Given the description of an element on the screen output the (x, y) to click on. 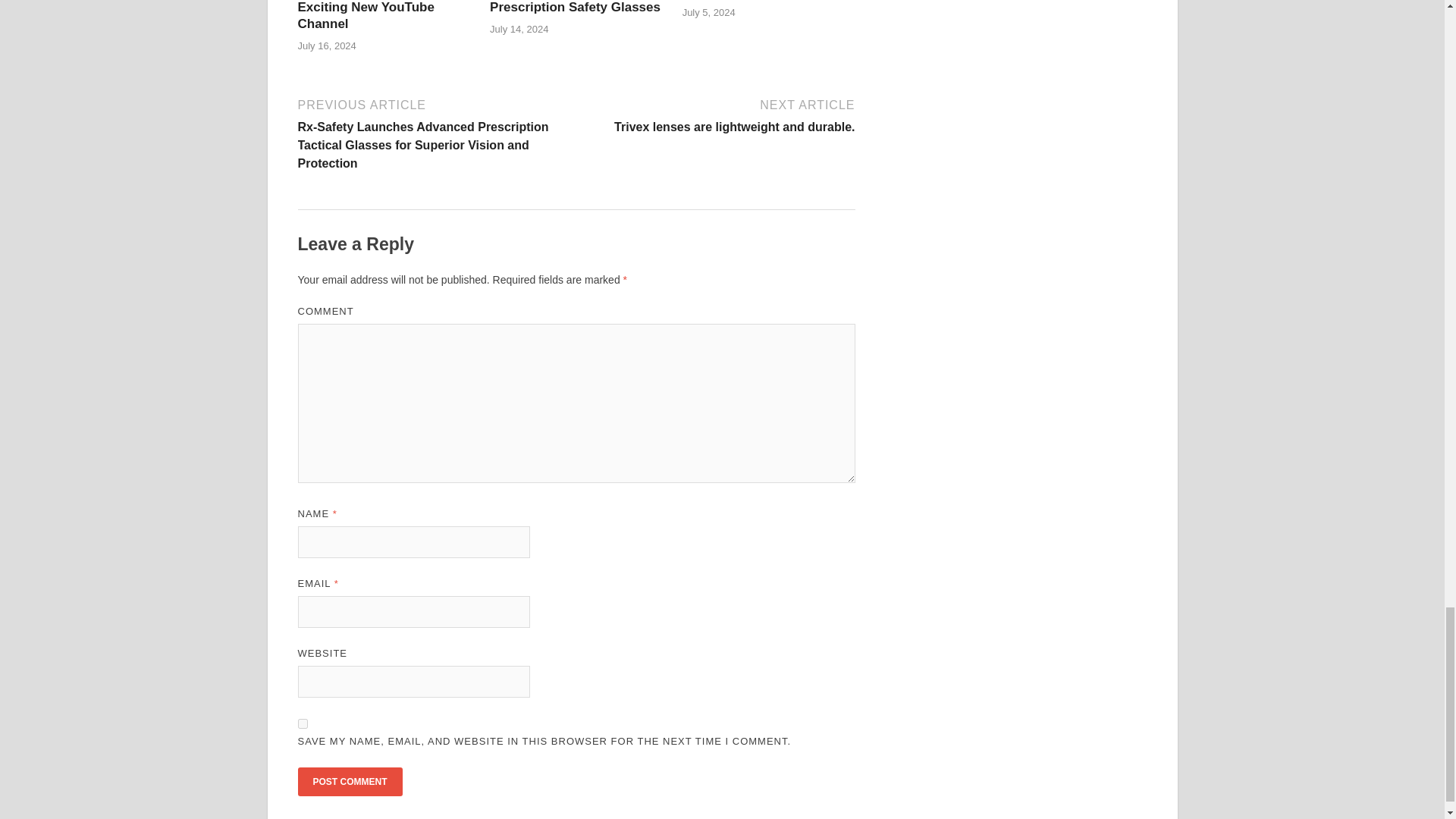
Post Comment (349, 781)
yes (302, 723)
Post Comment (349, 781)
